Given the description of an element on the screen output the (x, y) to click on. 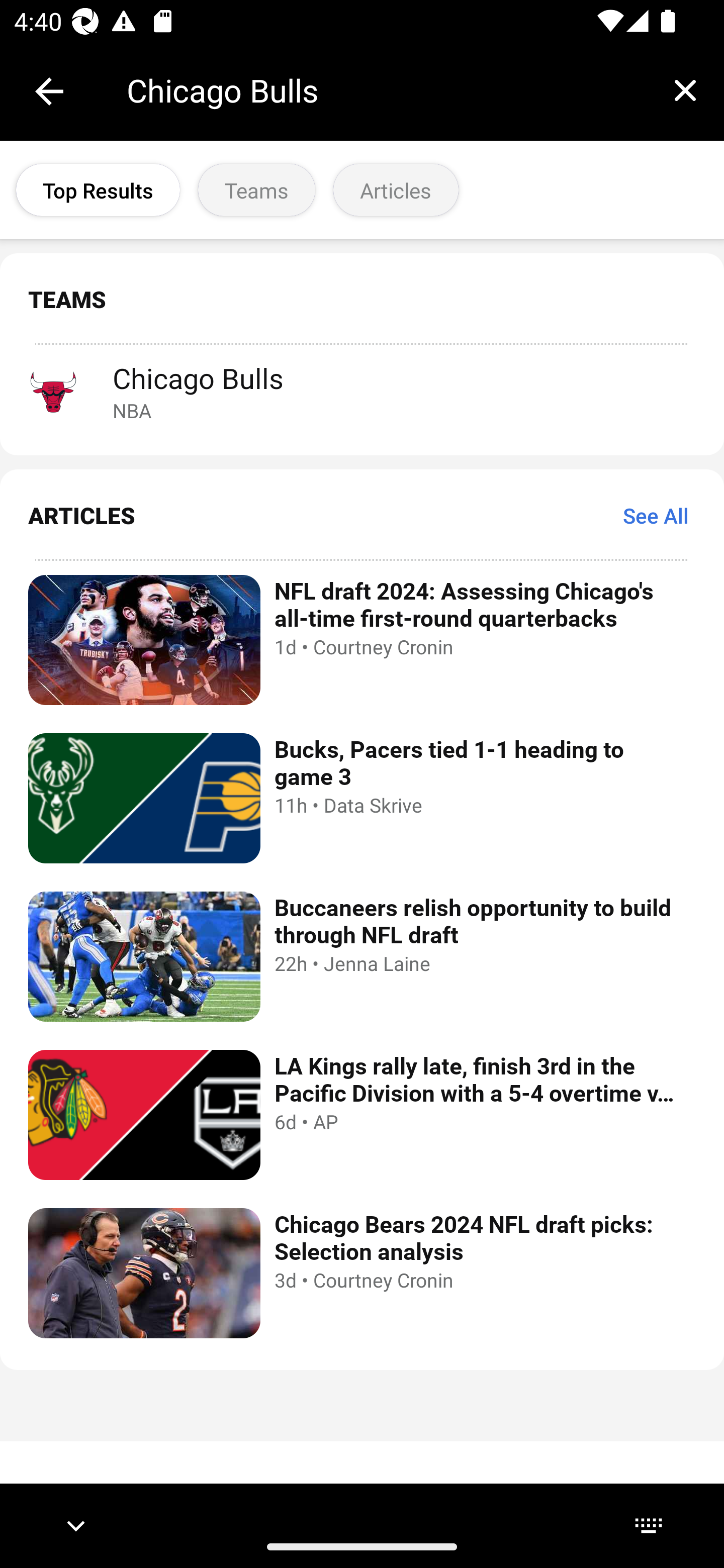
Collapse (49, 91)
Clear query (685, 89)
Chicago Bulls (386, 90)
Top Results (97, 190)
Teams (256, 190)
Articles (395, 190)
Chicago Bulls : NBA Chicago Bulls NBA (362, 390)
See All (655, 514)
